Given the description of an element on the screen output the (x, y) to click on. 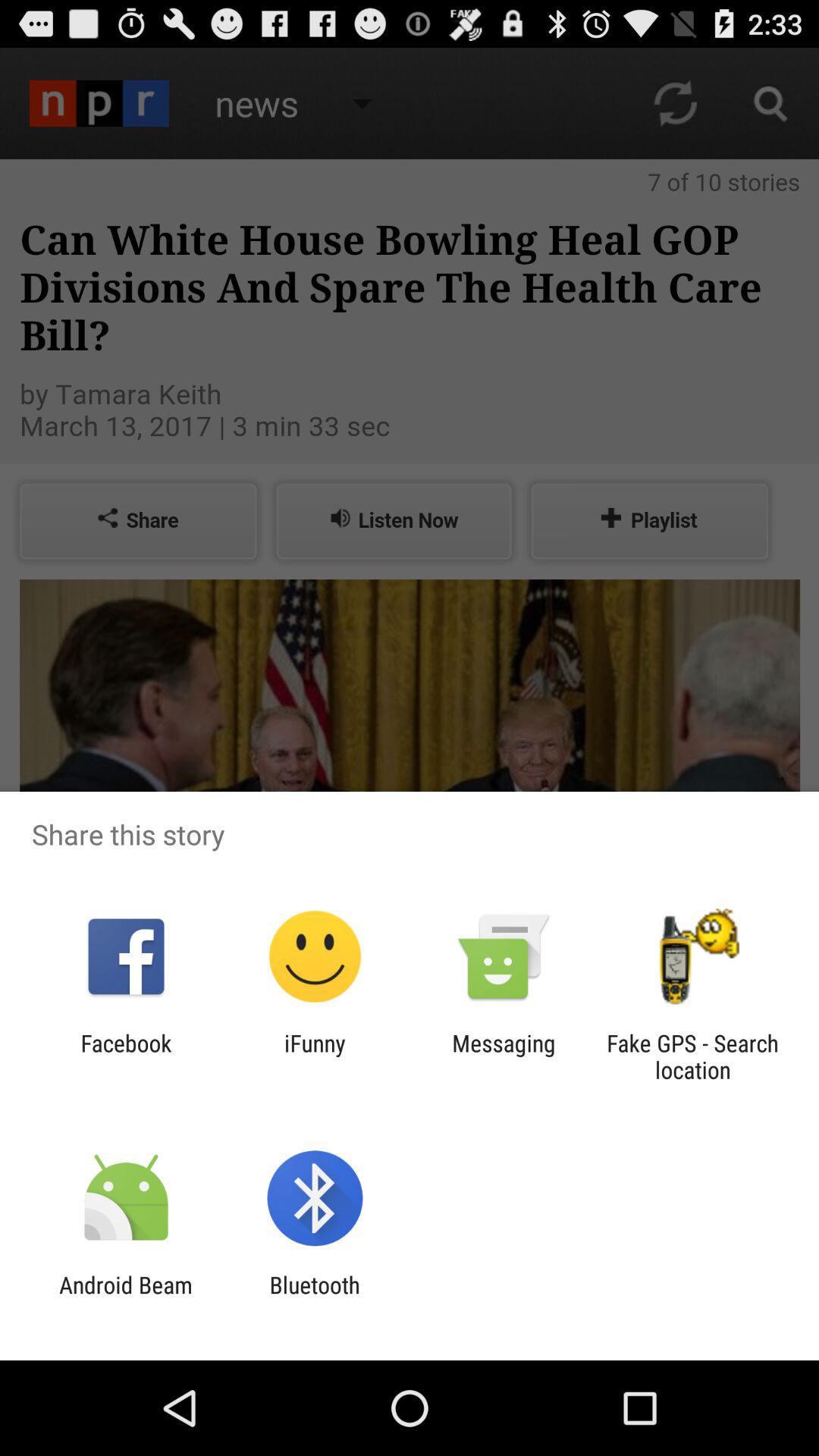
swipe to the bluetooth icon (314, 1298)
